Given the description of an element on the screen output the (x, y) to click on. 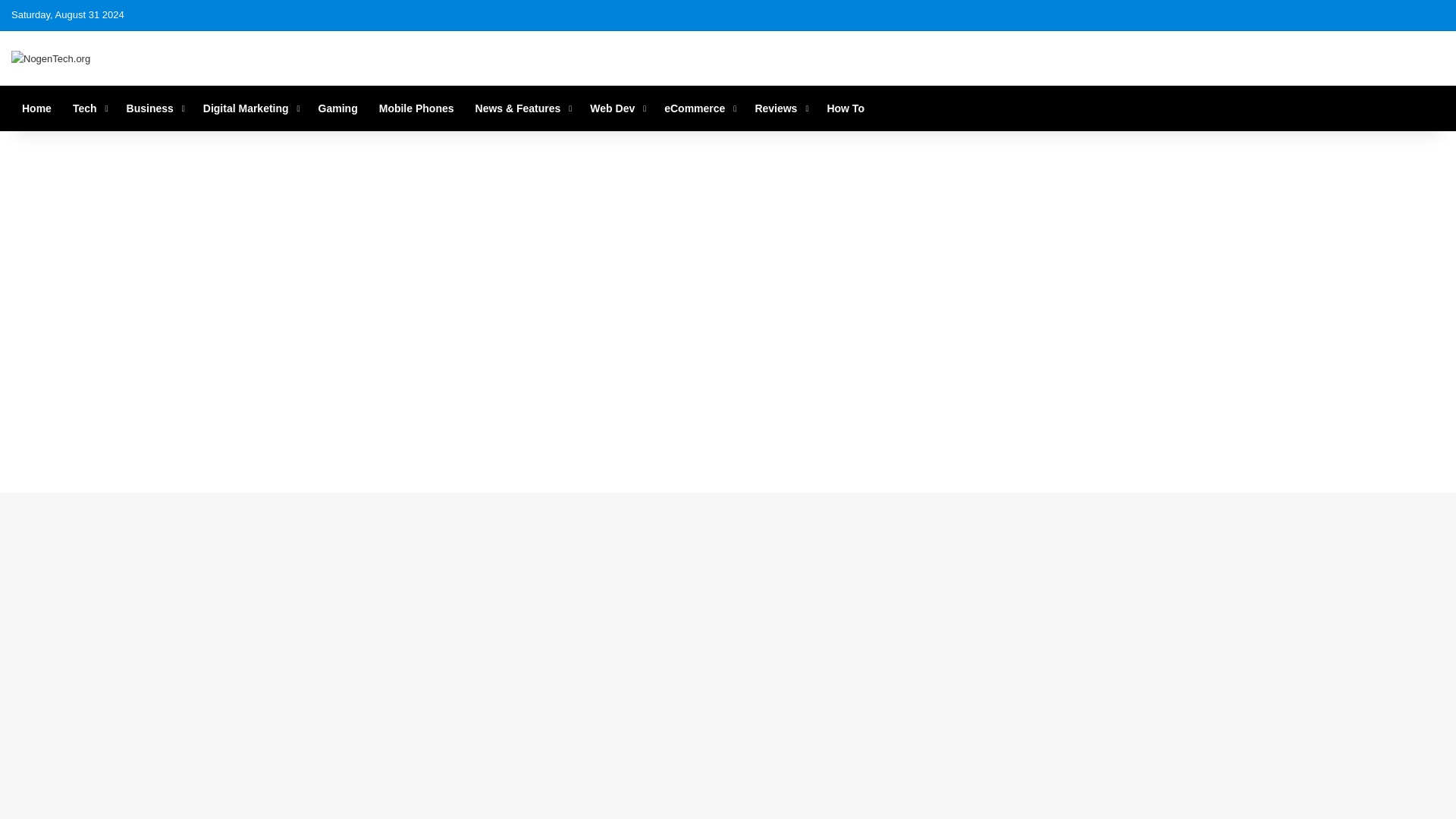
Mobile Phones (416, 108)
Business (154, 108)
Home (36, 108)
Digital Marketing (249, 108)
NogenTech.org (50, 57)
Gaming (337, 108)
Tech (89, 108)
